Given the description of an element on the screen output the (x, y) to click on. 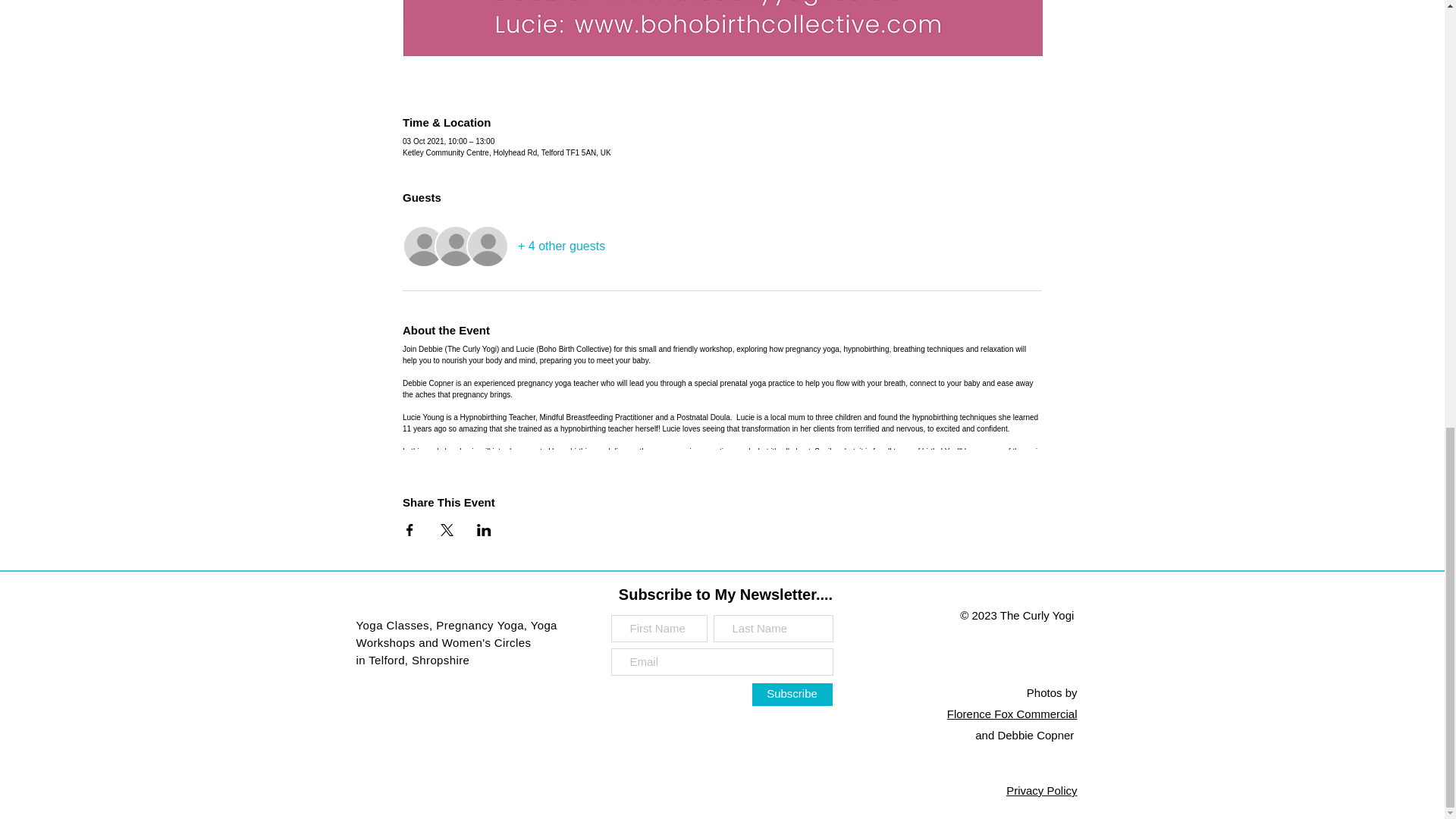
Privacy Policy (1041, 789)
Subscribe (792, 694)
Florence Fox Commercial (1012, 713)
